Given the description of an element on the screen output the (x, y) to click on. 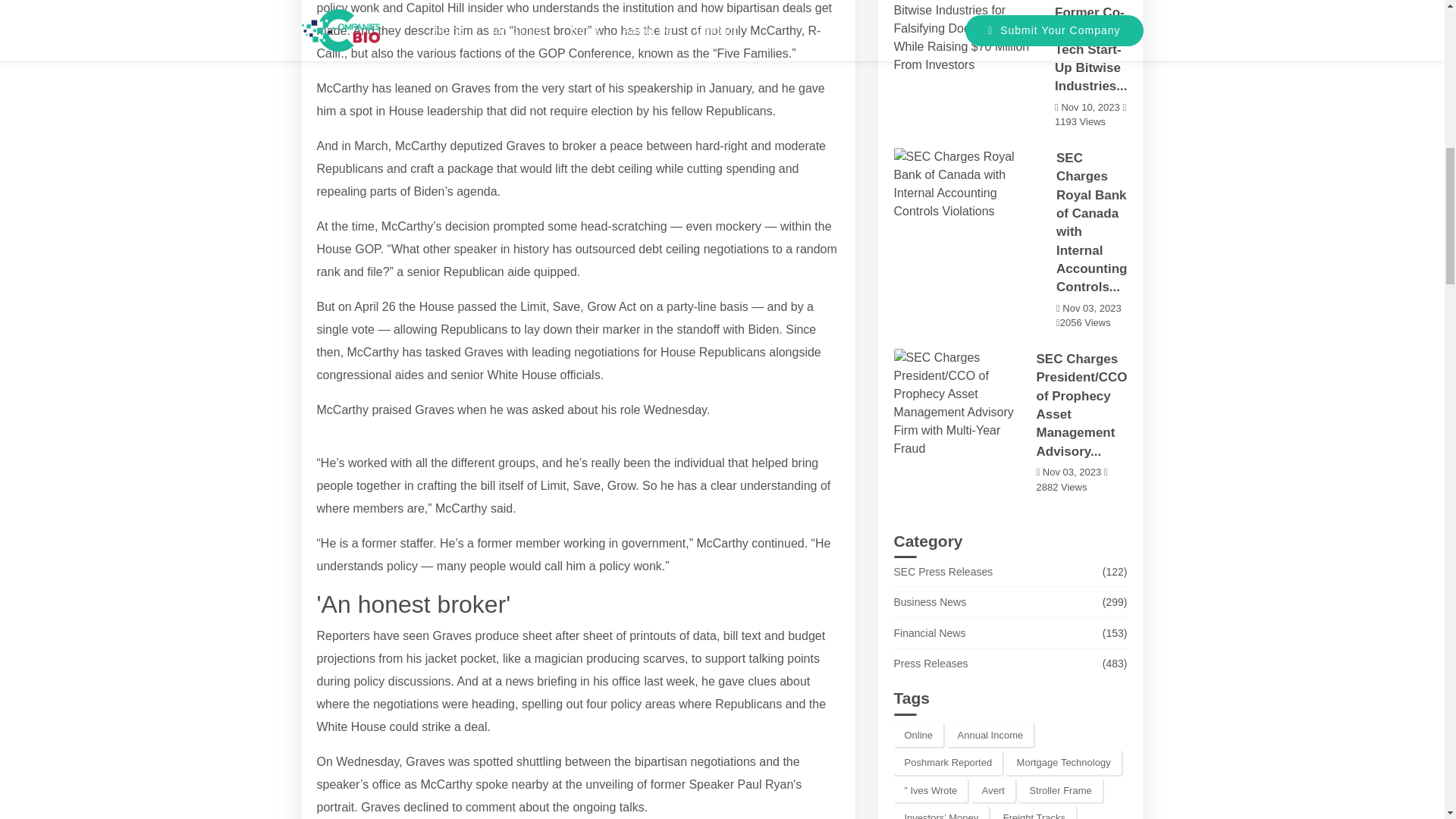
ceiling (634, 168)
ceiling (634, 168)
ceiling (682, 248)
ceiling (682, 248)
